Given the description of an element on the screen output the (x, y) to click on. 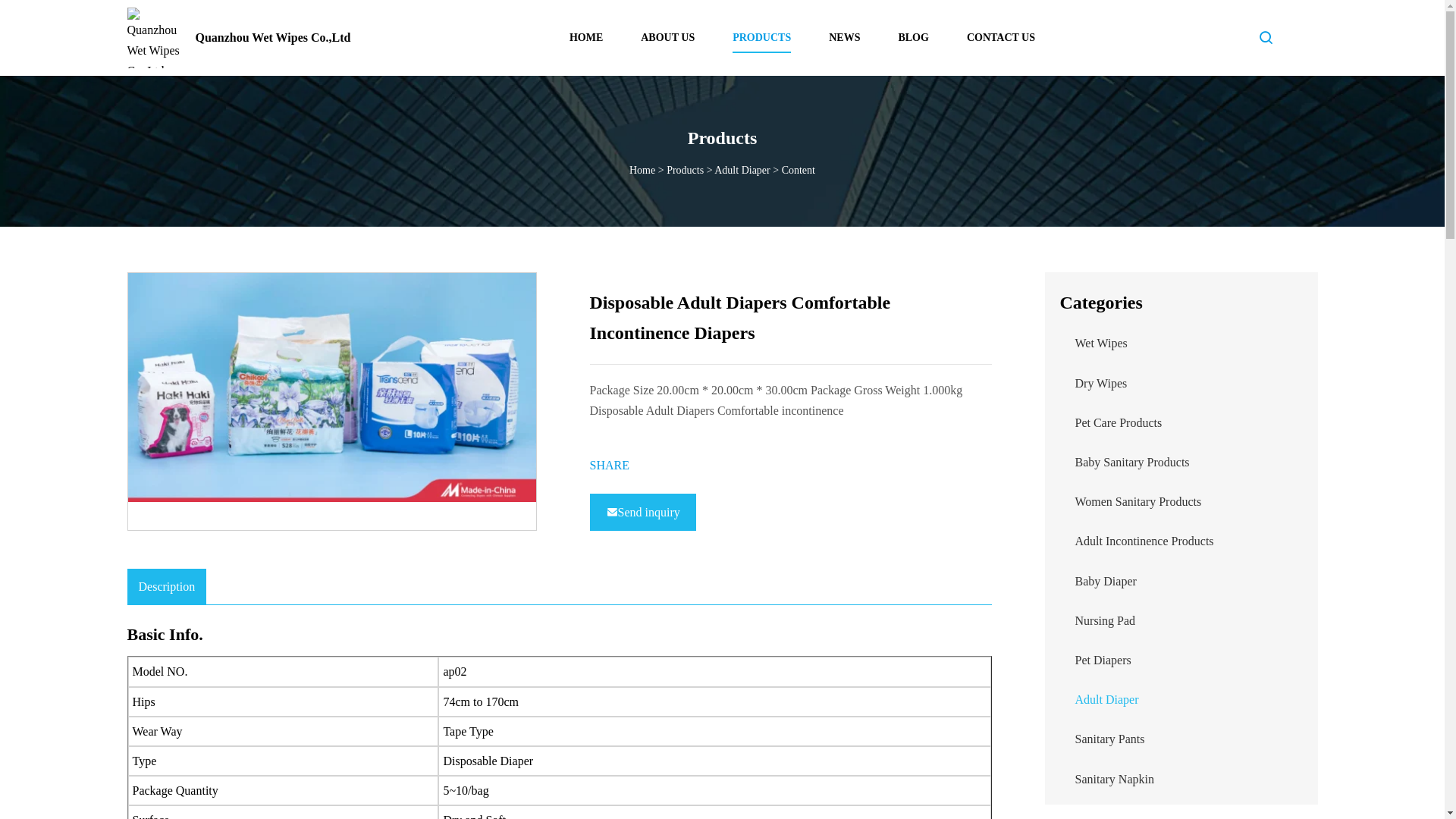
Adult Incontinence Products (1144, 540)
Women Sanitary Products (1138, 501)
Quanzhou Wet Wipes Co.,Ltd (239, 38)
Wet Wipes (1100, 342)
Send inquiry (642, 511)
Dry Wipes (1100, 382)
Baby Sanitary Products (1132, 461)
Products (684, 170)
Home (641, 170)
Pet Care Products (1118, 422)
